Given the description of an element on the screen output the (x, y) to click on. 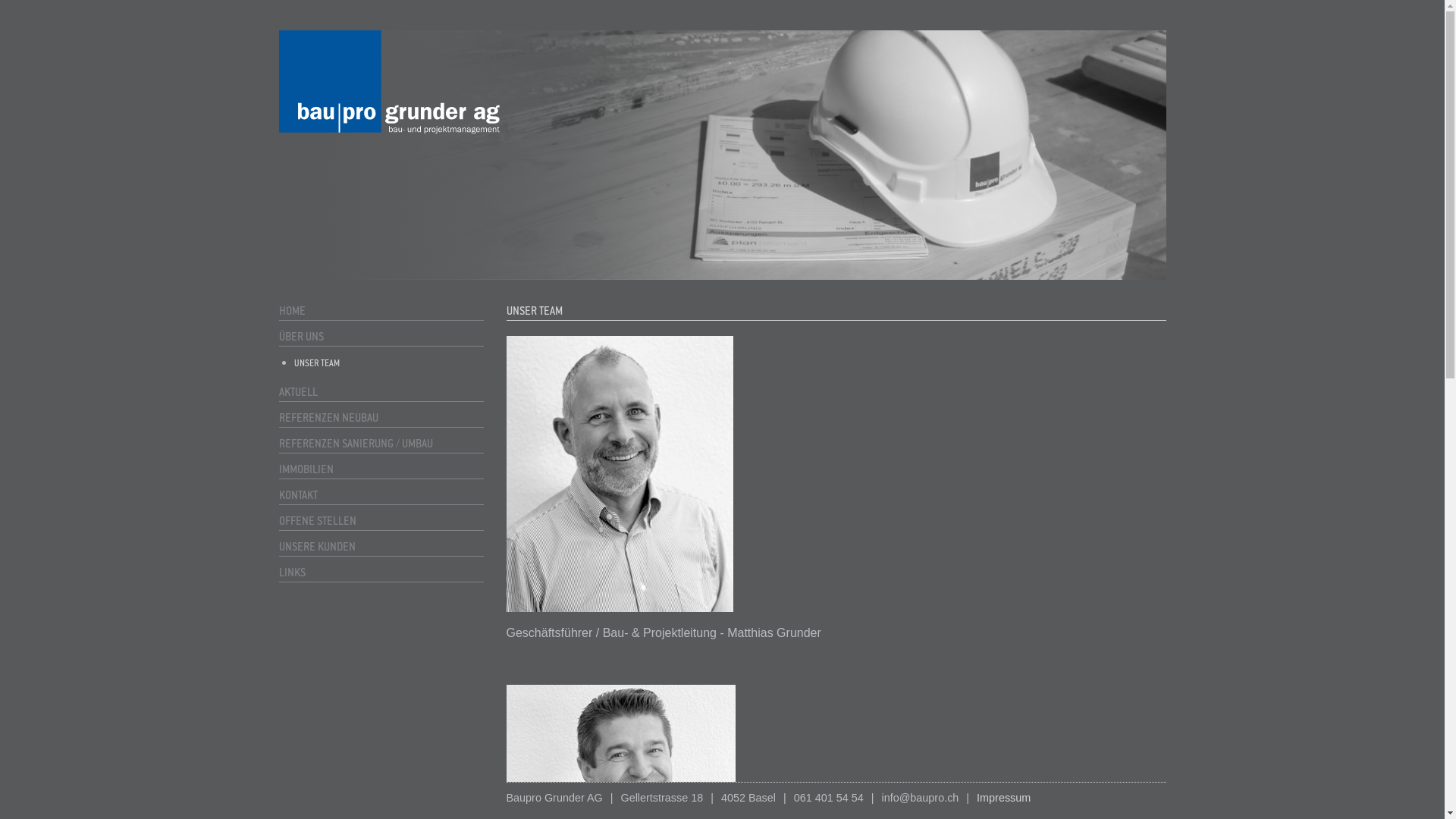
UNSERE KUNDEN Element type: text (381, 546)
HOME Element type: text (381, 310)
REFERENZEN SANIERUNG / UMBAU Element type: text (381, 443)
IMMOBILIEN Element type: text (381, 469)
KONTAKT Element type: text (381, 495)
LINKS Element type: text (381, 572)
Impressum Element type: text (1003, 798)
UNSER TEAM Element type: text (389, 363)
AKTUELL Element type: text (381, 391)
OFFENE STELLEN Element type: text (381, 520)
REFERENZEN NEUBAU Element type: text (381, 417)
